Given the description of an element on the screen output the (x, y) to click on. 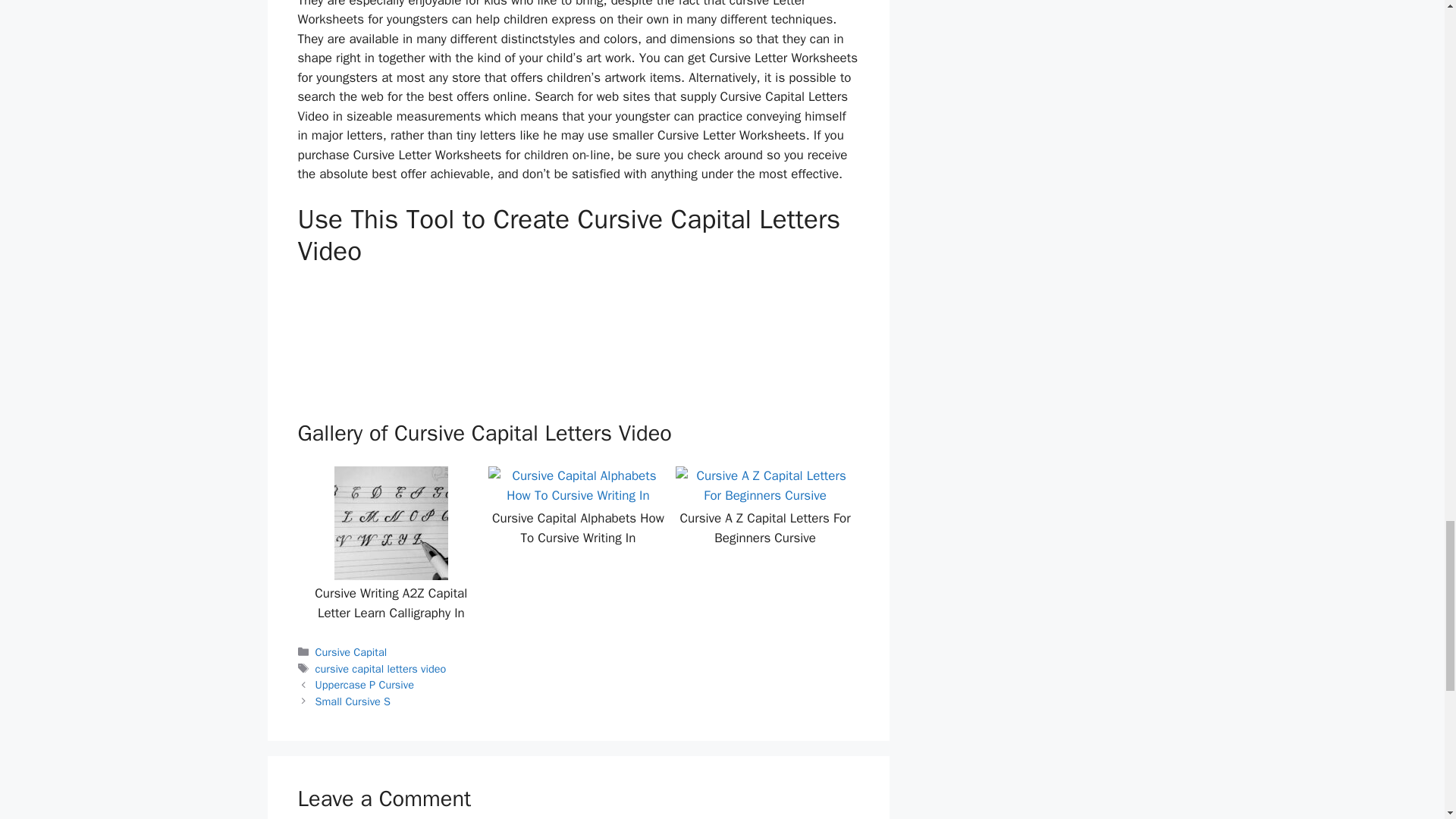
Small Cursive S (352, 701)
Handwriting Worksheet (410, 338)
cursive capital letters video (380, 668)
Uppercase P Cursive (364, 684)
Cursive Capital (351, 652)
